Given the description of an element on the screen output the (x, y) to click on. 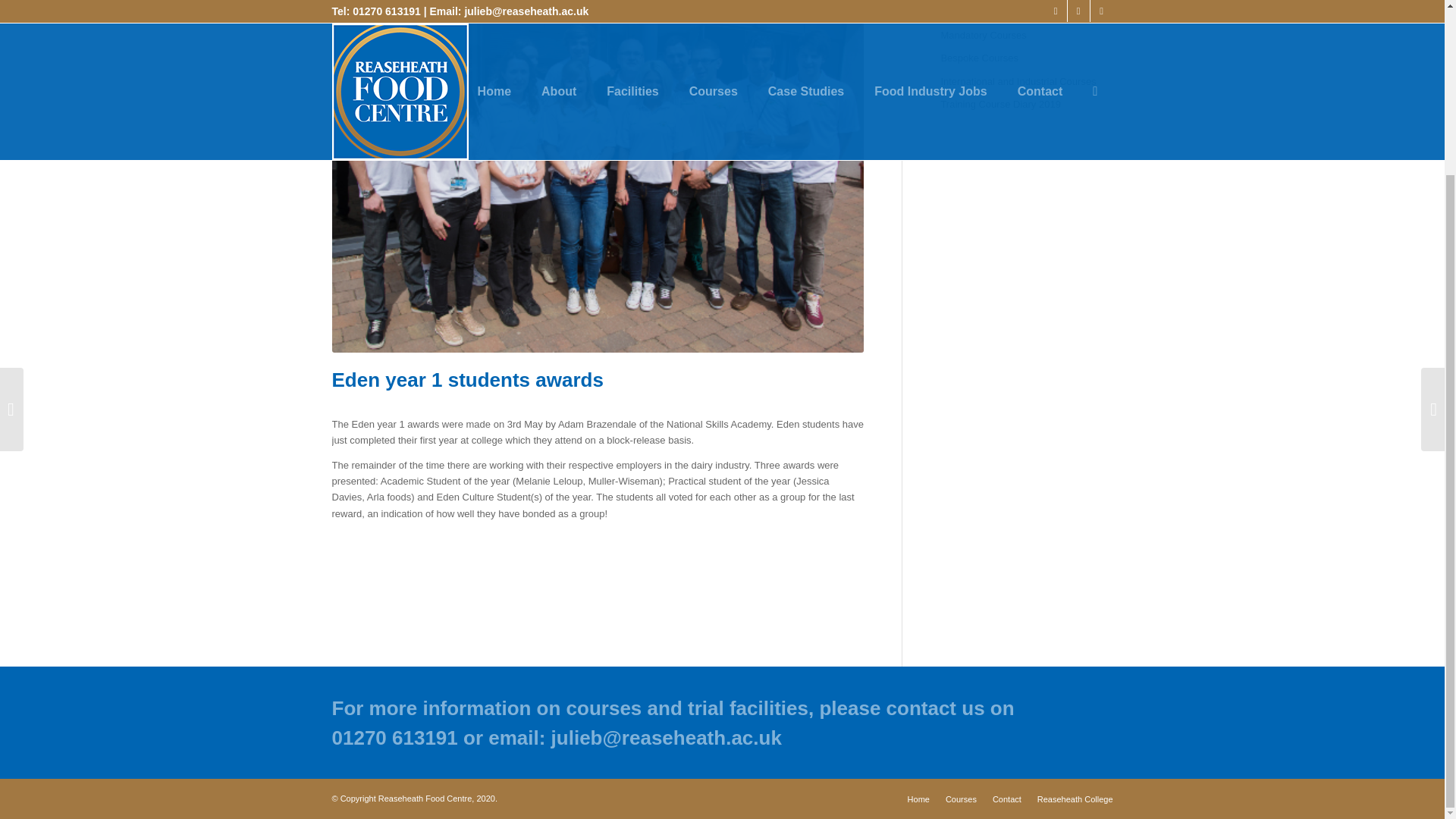
Training Course Diary 2019 (1026, 104)
Home (918, 798)
Bespoke Courses (1026, 57)
International and Industrial Courses (1026, 81)
Mandatory Courses (1026, 35)
